Given the description of an element on the screen output the (x, y) to click on. 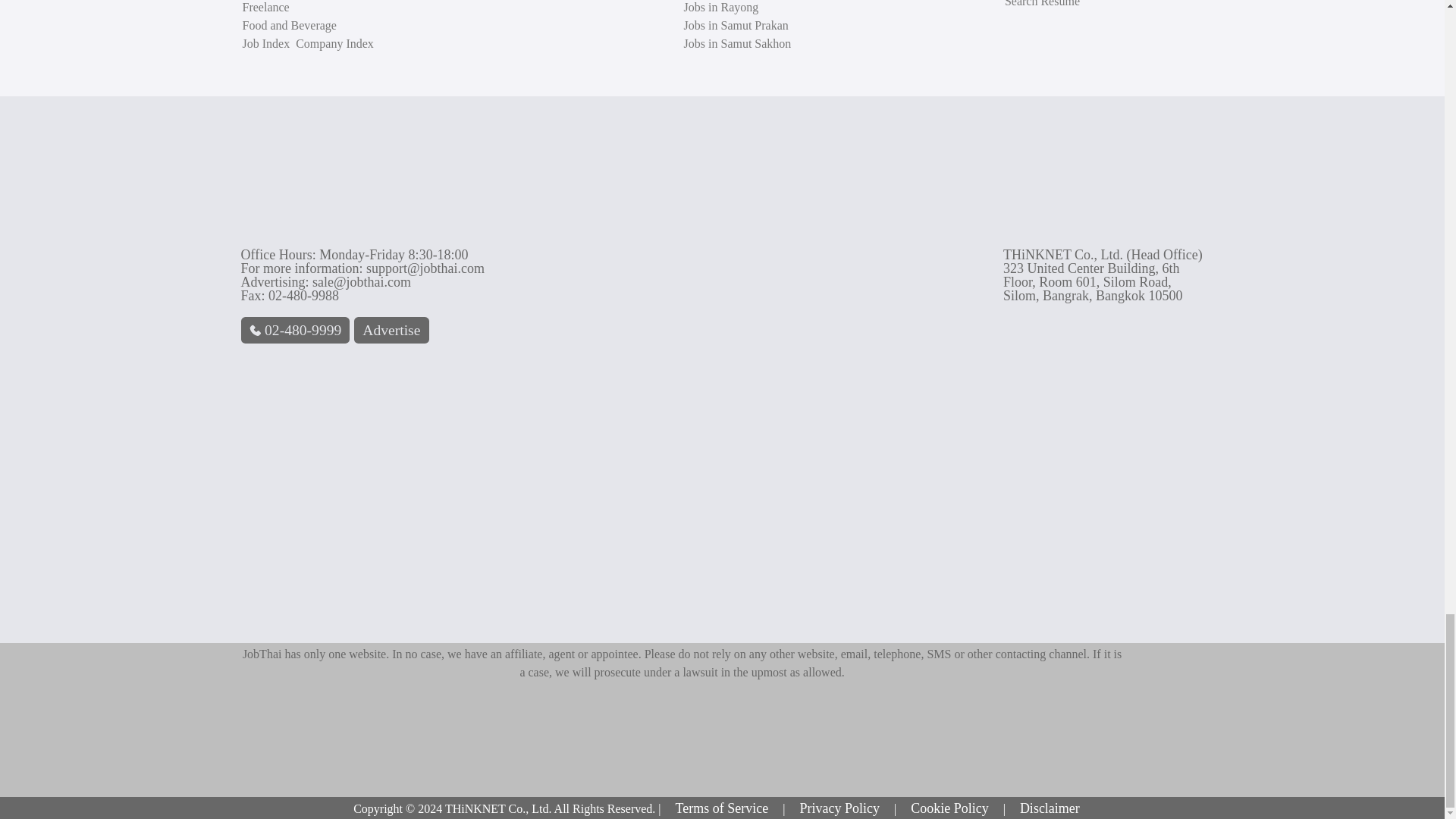
Job Index (268, 43)
Food and Beverage (289, 25)
Freelance (266, 7)
Company Index (334, 43)
